Given the description of an element on the screen output the (x, y) to click on. 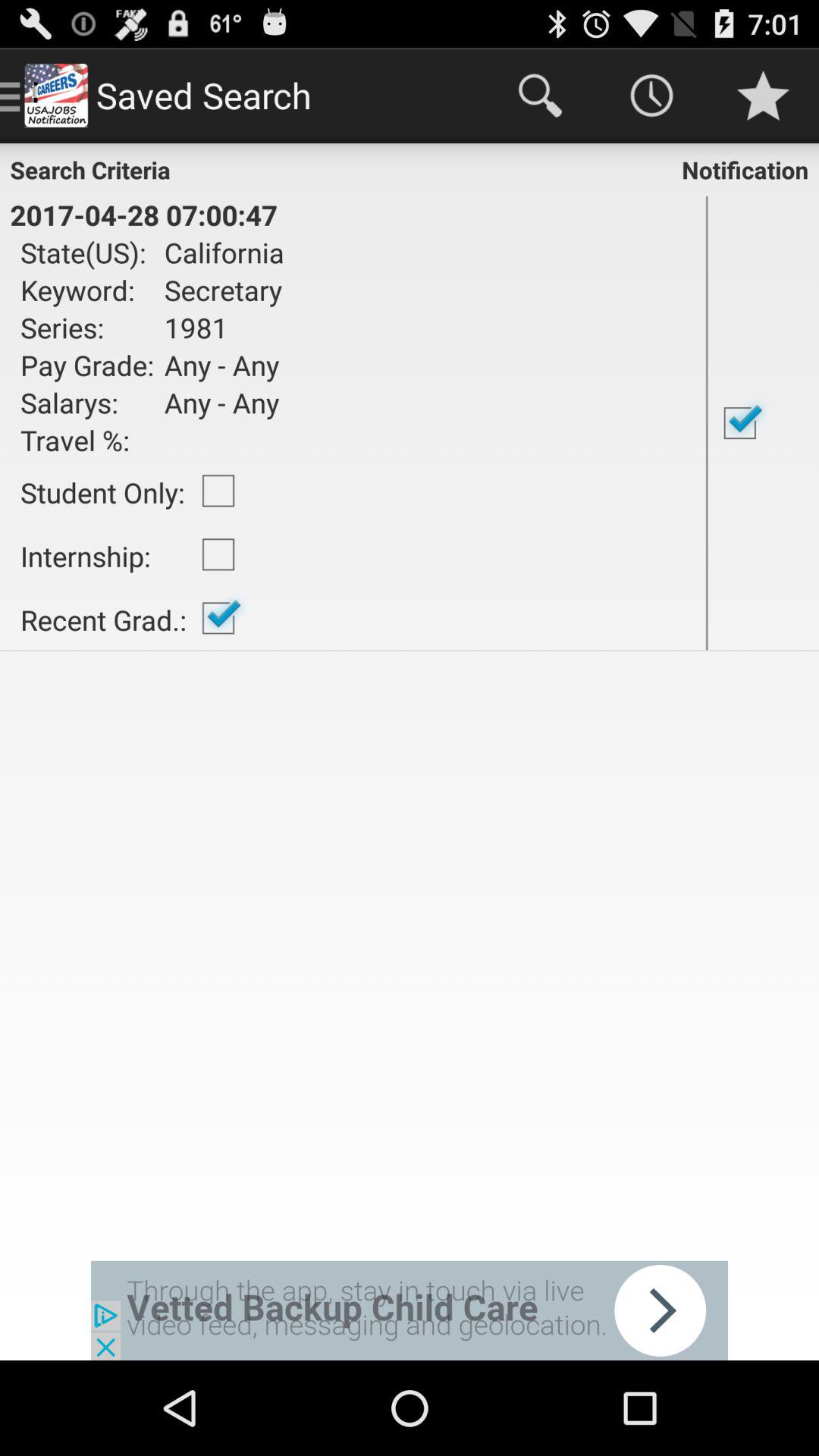
launch state(us): (87, 252)
